Given the description of an element on the screen output the (x, y) to click on. 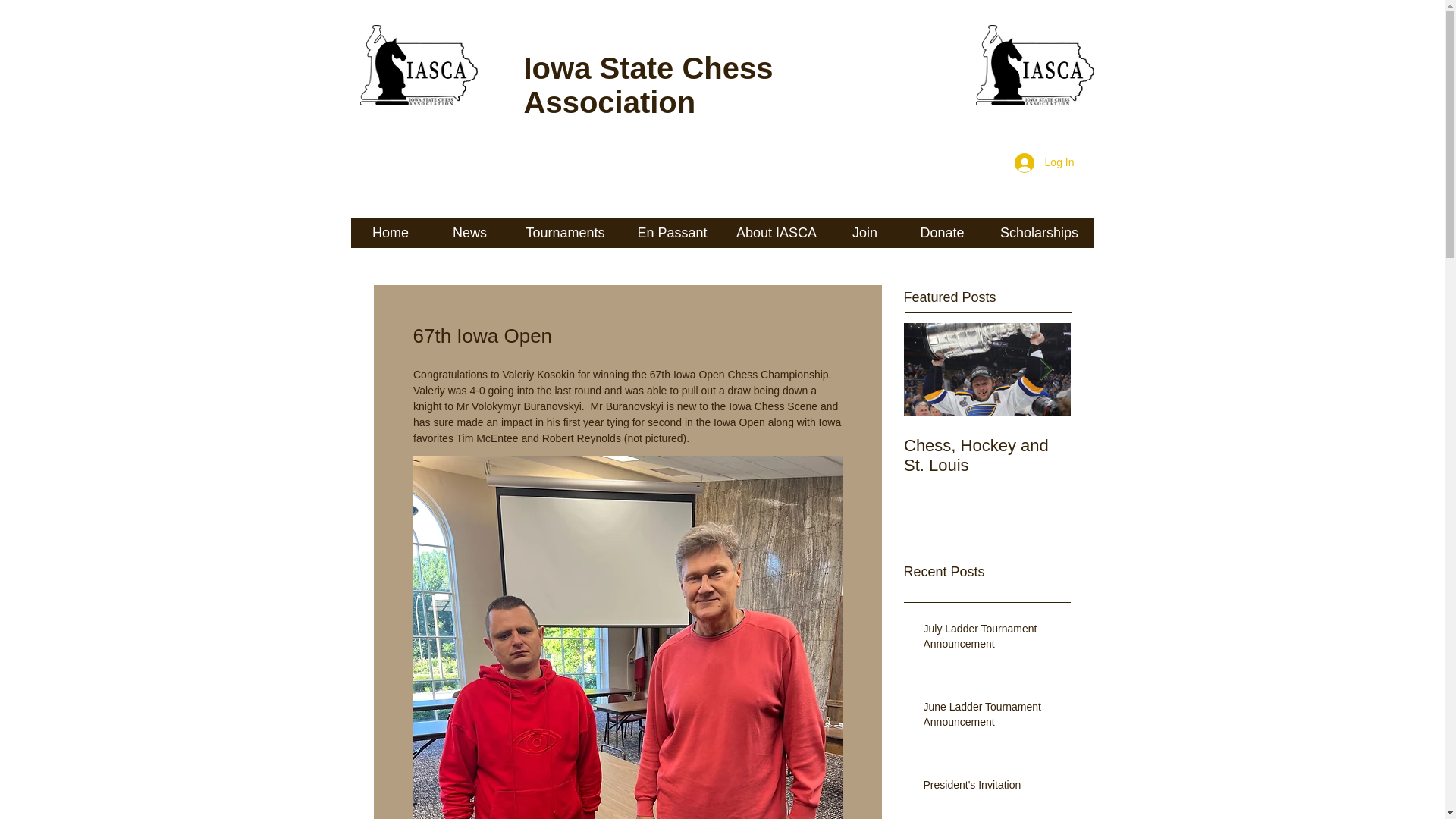
Iowa State Chess Association (647, 84)
2018 Lee County Fair Chess Tournament (1153, 455)
July Ladder Tournament Announcement (992, 639)
President's Invitation (992, 788)
June Ladder Tournament Announcement (992, 717)
Donate (941, 232)
Log In (1044, 162)
Scholarships (1038, 232)
Tournaments (565, 232)
News (469, 232)
